Given the description of an element on the screen output the (x, y) to click on. 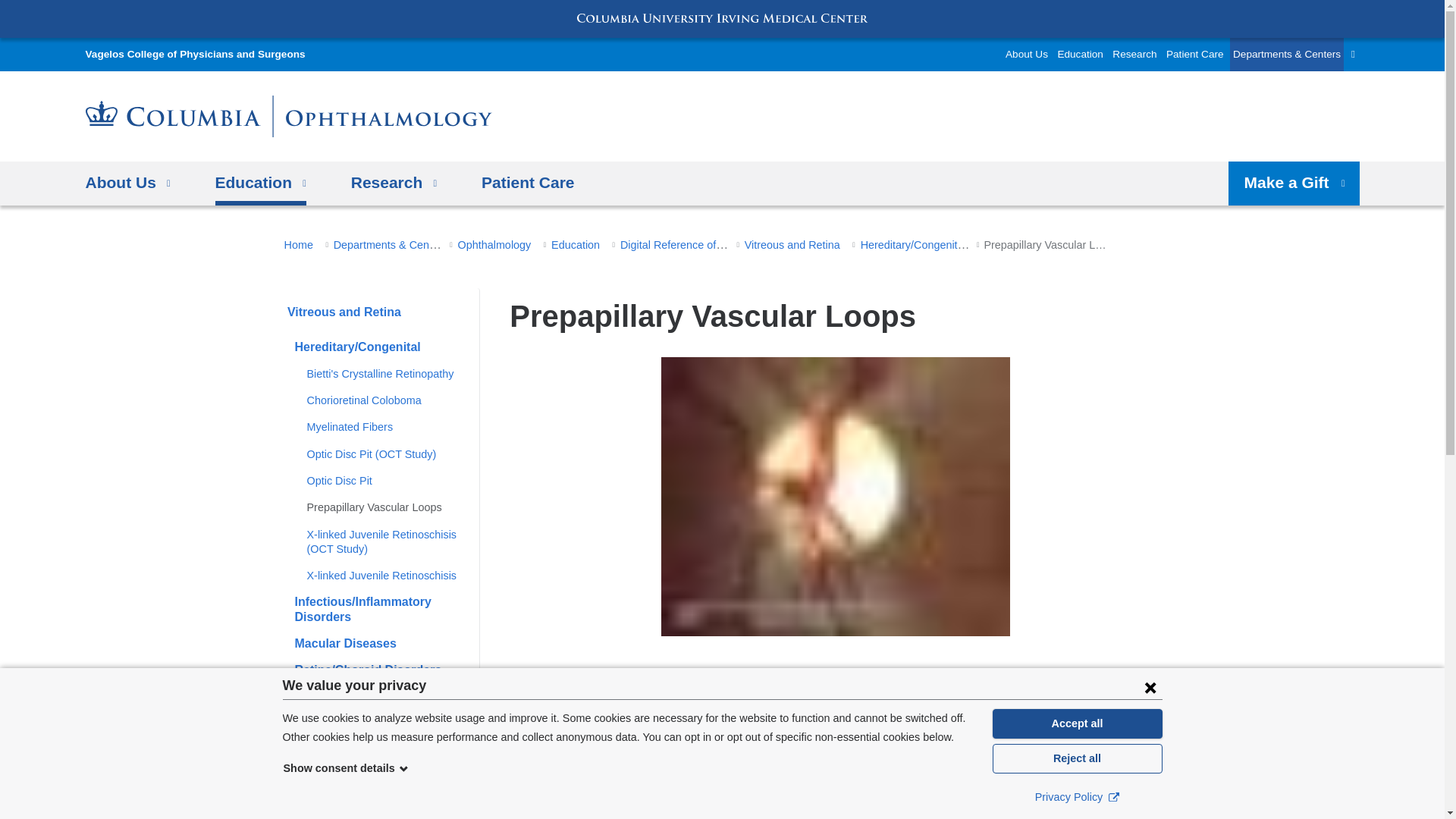
Education (1079, 54)
Vagelos College of Physicians and Surgeons (194, 54)
Research (1133, 54)
Home (194, 54)
Show consent details (346, 768)
About Us (1027, 54)
Reject all (1076, 758)
Columbia University Irving Medical Center (721, 17)
 Ophthalmology Home (288, 116)
Patient Care (1195, 54)
Accept all (1076, 723)
Privacy Policy External link Opens in a new window (1076, 796)
Education (260, 182)
External link Opens in a new window (1113, 796)
